Given the description of an element on the screen output the (x, y) to click on. 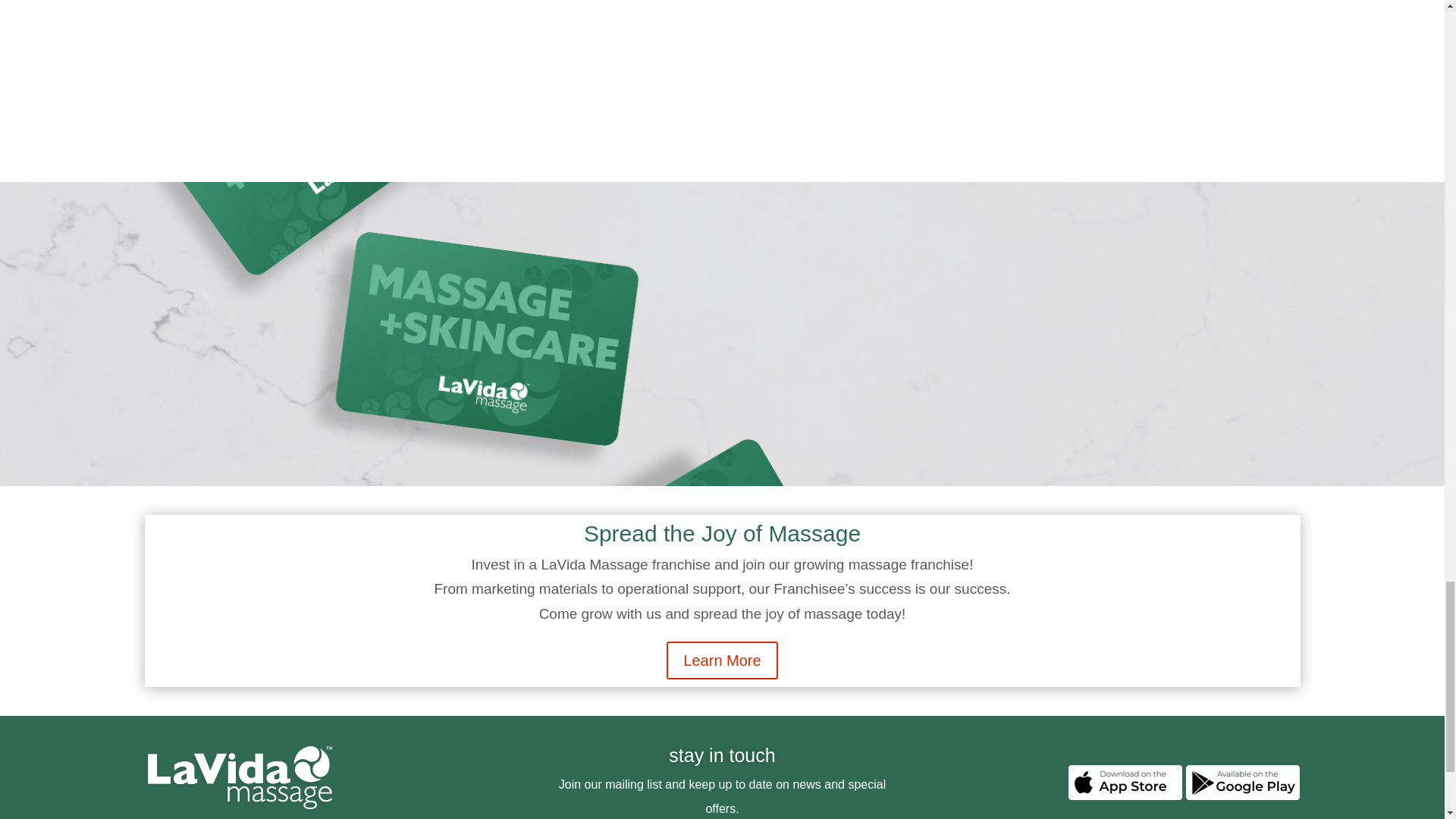
Follow on Facebook (1276, 811)
Follow on Instagram (1230, 811)
